Given the description of an element on the screen output the (x, y) to click on. 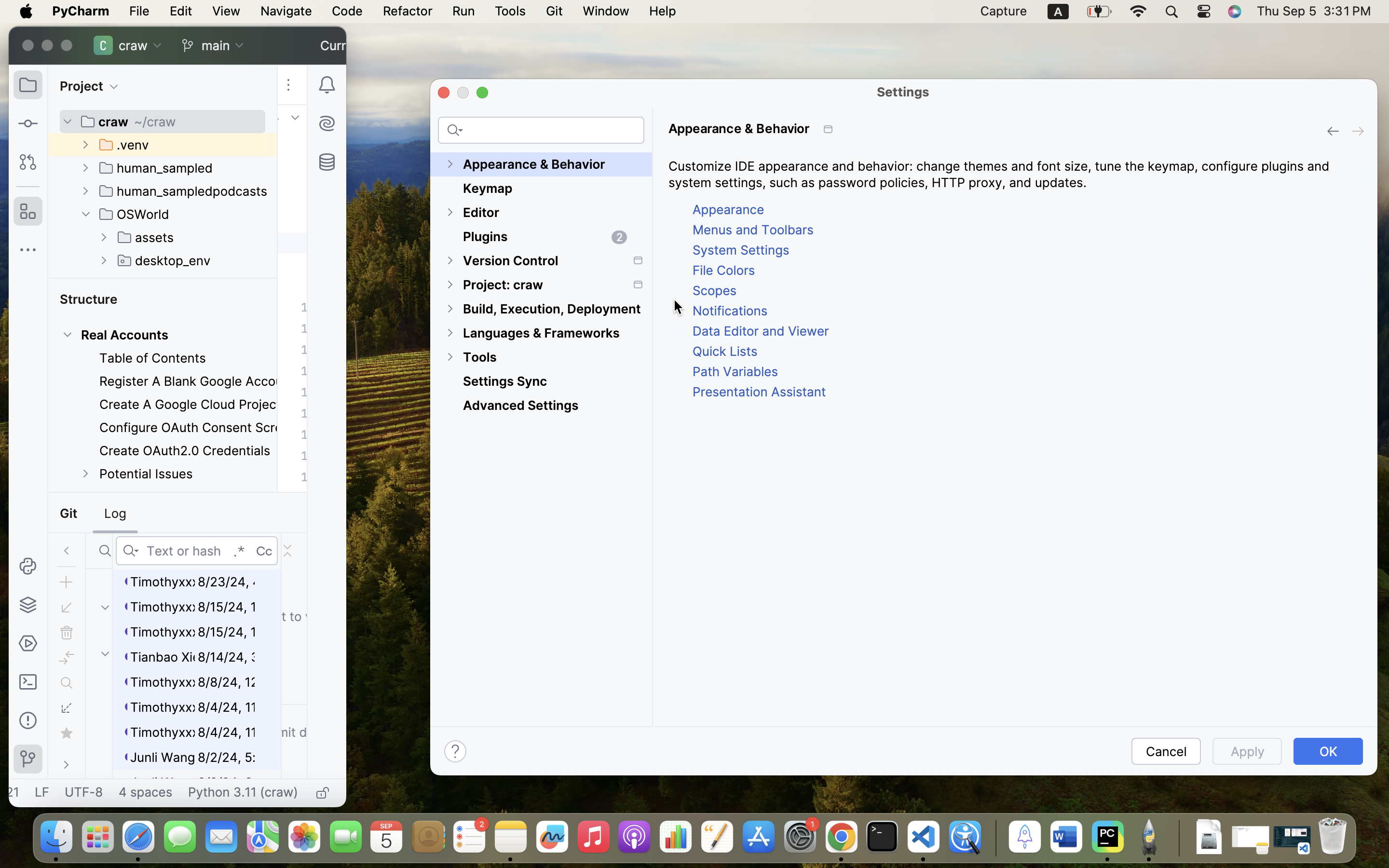
0.4285714328289032 Element type: AXDockItem (993, 837)
0 Element type: AXOutline (541, 439)
Settings Element type: AXStaticText (902, 91)
